Given the description of an element on the screen output the (x, y) to click on. 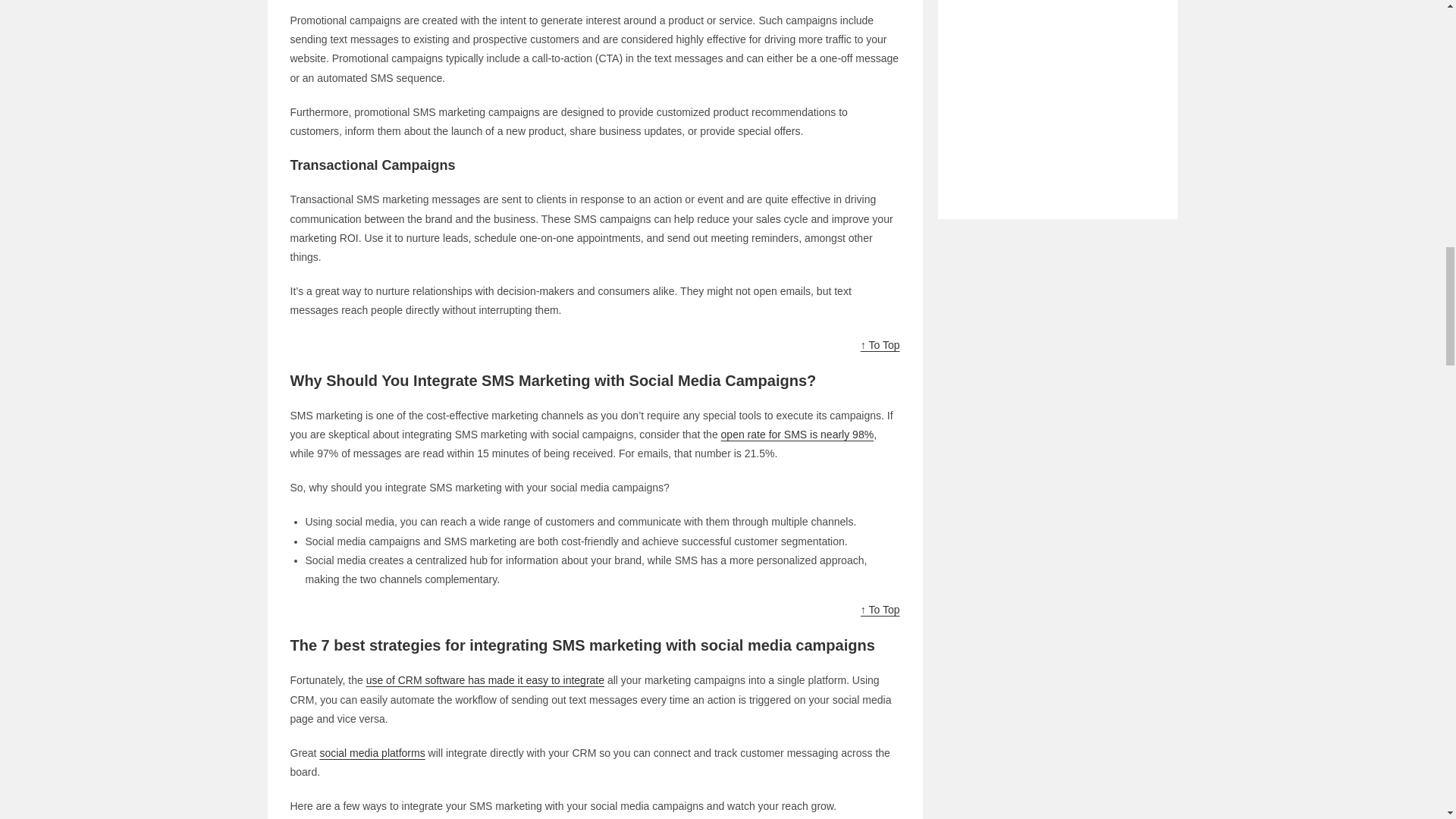
Advertisement (1056, 88)
social media platforms (371, 752)
use of CRM software has made it easy to integrate (485, 680)
